Given the description of an element on the screen output the (x, y) to click on. 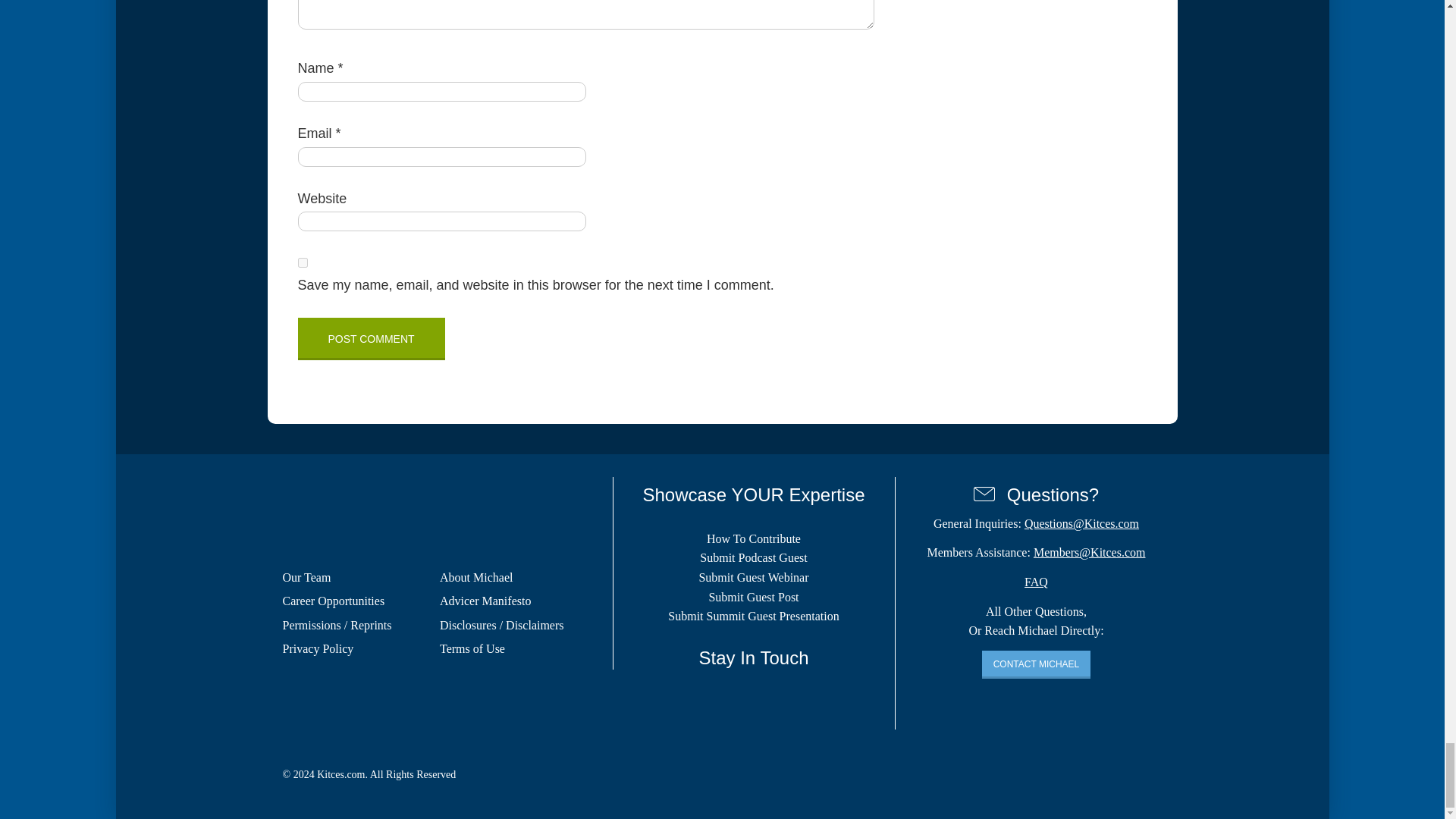
Post Comment (370, 338)
yes (302, 262)
